Given the description of an element on the screen output the (x, y) to click on. 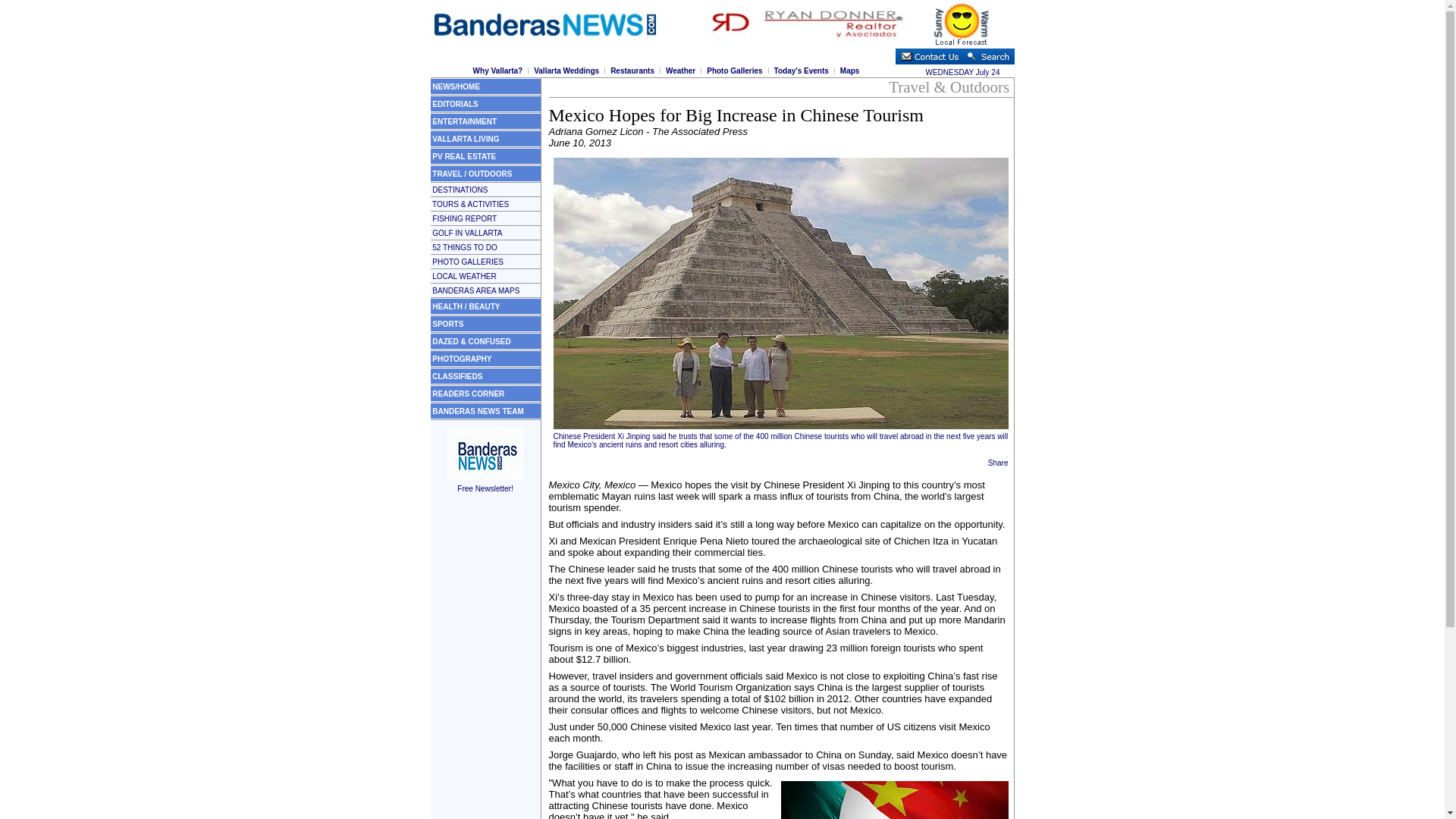
ENTERTAINMENT (464, 121)
CLASSIFIEDS (456, 375)
PHOTOGRAPHY (462, 358)
Today's Events (801, 70)
Restaurants (631, 70)
Weather (680, 70)
DESTINATIONS (459, 189)
BANDERAS AREA MAPS (475, 290)
Free Newsletter! (484, 483)
Why Vallarta? (497, 70)
PHOTO GALLERIES (467, 261)
PV REAL ESTATE (464, 155)
LOCAL WEATHER (464, 275)
Maps (850, 70)
EDITORIALS (454, 103)
